Given the description of an element on the screen output the (x, y) to click on. 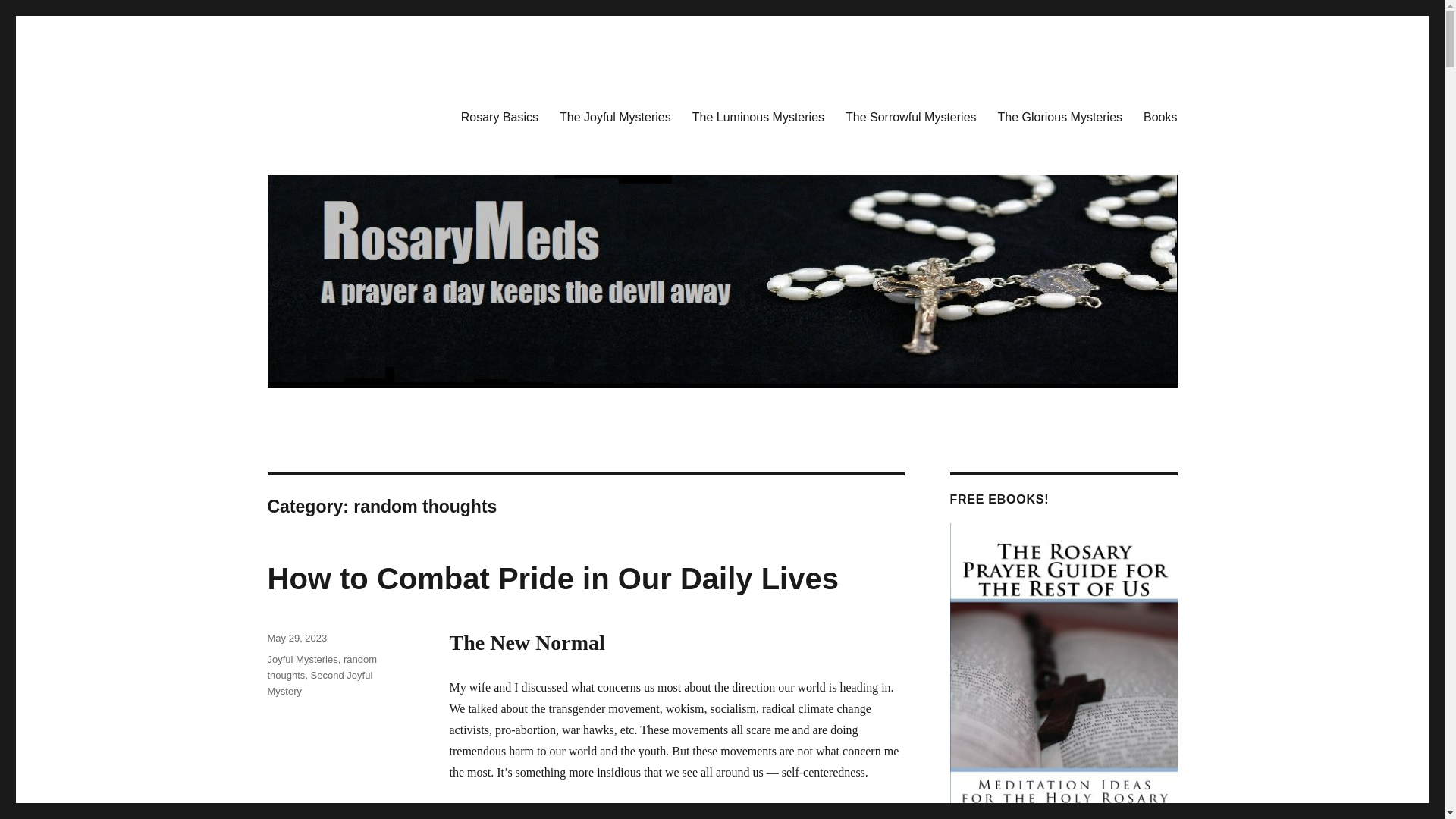
RosaryMeds (329, 114)
Books (1160, 116)
May 29, 2023 (296, 637)
The Glorious Mysteries (1060, 116)
random thoughts (321, 666)
The Sorrowful Mysteries (910, 116)
The Luminous Mysteries (757, 116)
How to Combat Pride in Our Daily Lives (552, 578)
Joyful Mysteries (301, 659)
Second Joyful Mystery (319, 682)
Rosary Basics (498, 116)
The Joyful Mysteries (614, 116)
